Given the description of an element on the screen output the (x, y) to click on. 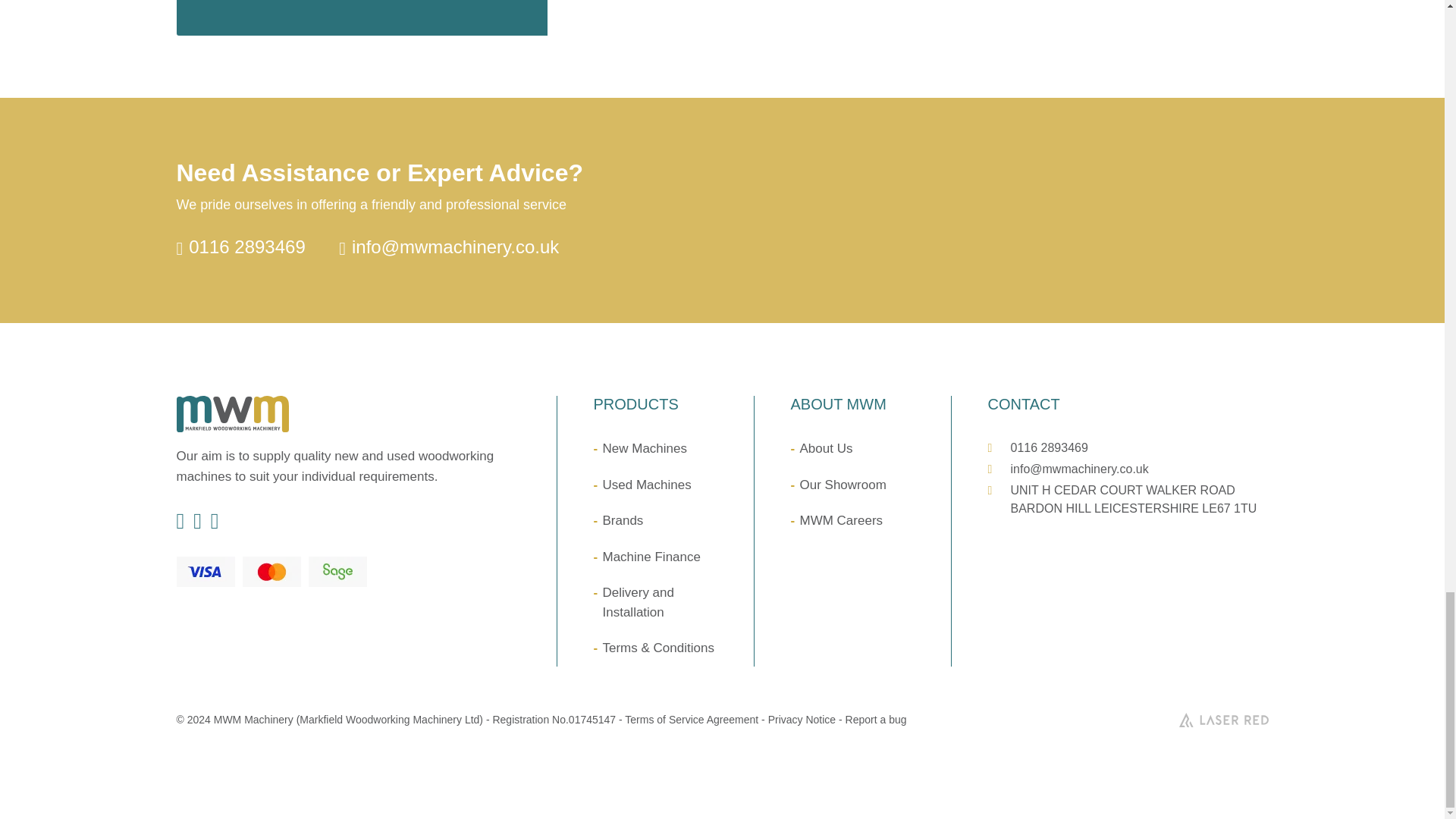
Website by Laser Red (1222, 719)
